Given the description of an element on the screen output the (x, y) to click on. 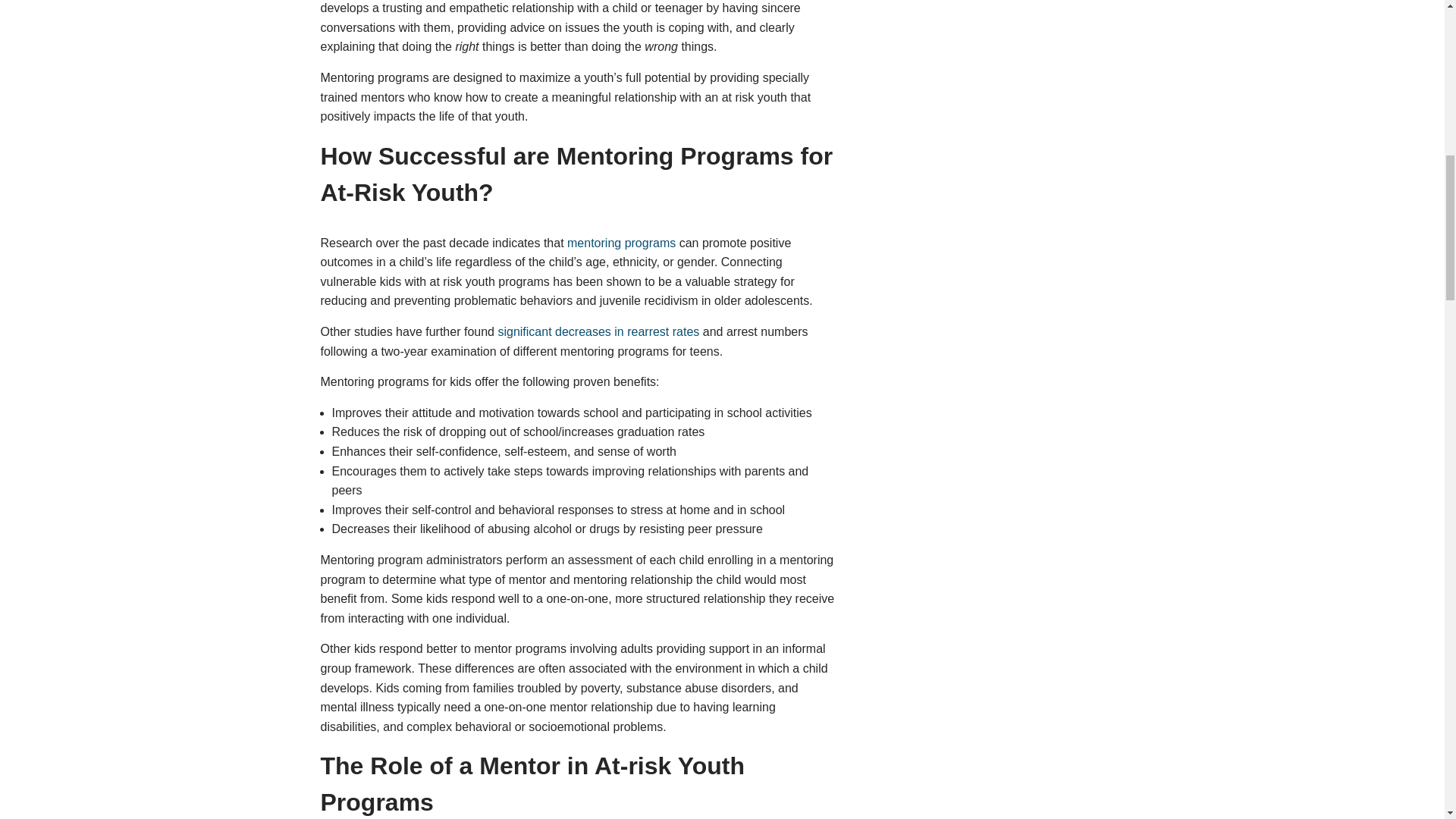
mentoring programs (621, 242)
significant decreases in rearrest rates (599, 331)
